Given the description of an element on the screen output the (x, y) to click on. 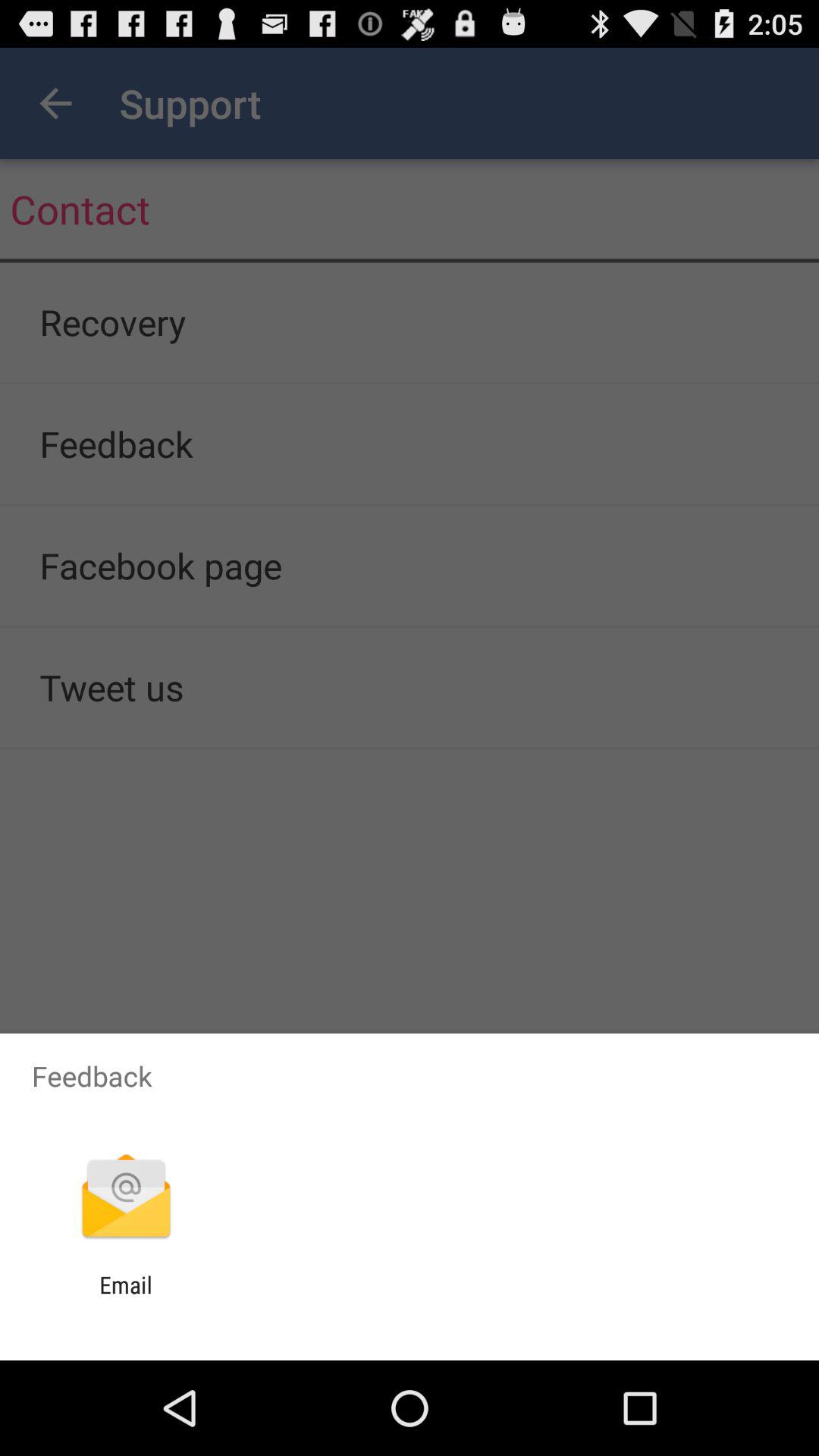
press item above the email (126, 1198)
